Given the description of an element on the screen output the (x, y) to click on. 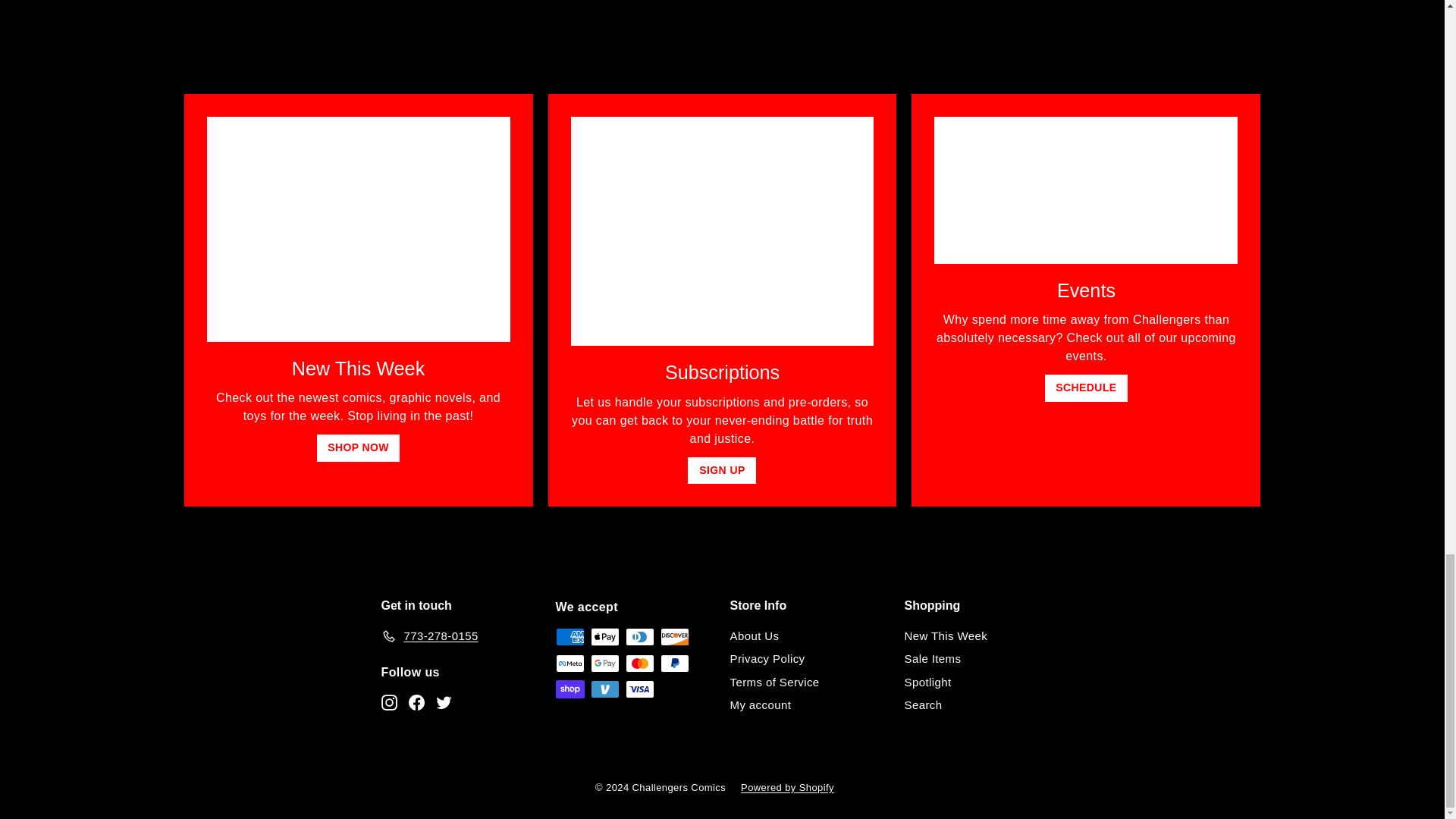
twitter (443, 702)
Apple Pay (603, 637)
American Express (568, 637)
Challengers Comics on Instagram (388, 701)
Challengers Comics on Twitter (443, 701)
Diners Club (638, 637)
instagram (388, 702)
Challengers Comics on Facebook (415, 701)
